Given the description of an element on the screen output the (x, y) to click on. 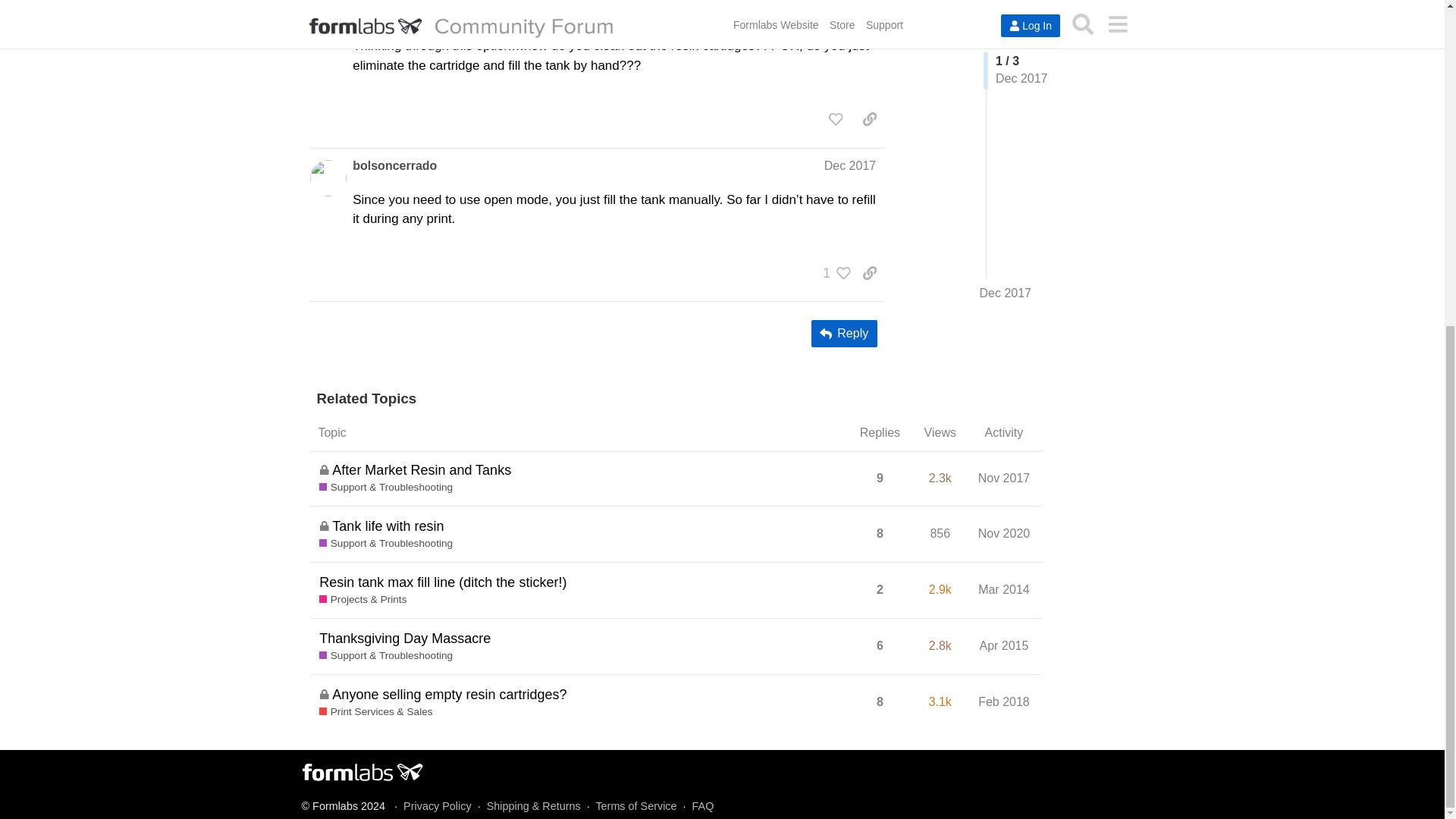
Dec 2017 (850, 164)
duoorthodontics (400, 12)
Post date (850, 11)
Tank life with resin (387, 525)
1 (832, 272)
Nov 2020 (1003, 533)
bolsoncerrado (394, 166)
Dec 2017 (850, 11)
Post date (850, 164)
copy a link to this post to clipboard (869, 118)
